Given the description of an element on the screen output the (x, y) to click on. 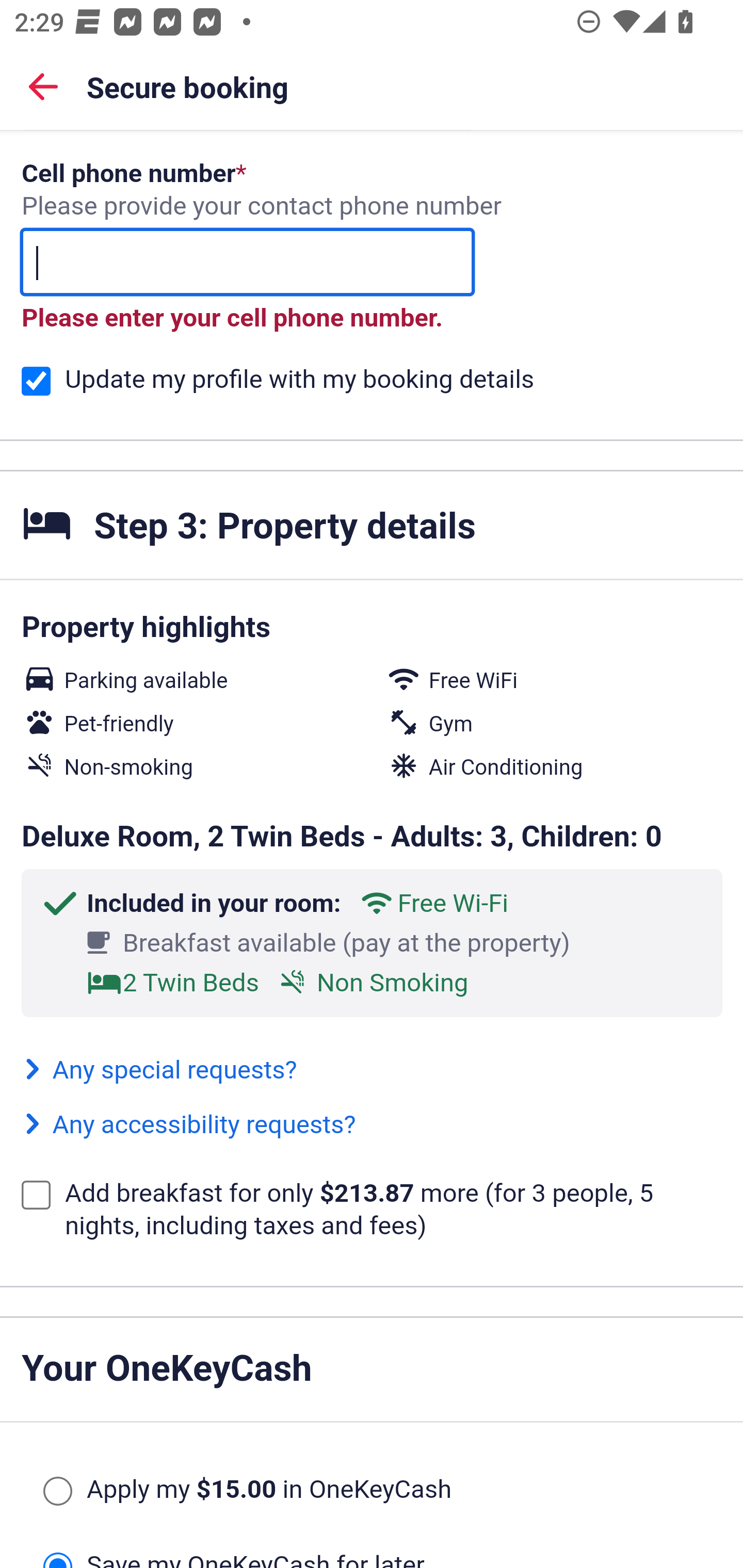
Back (43, 86)
Update my profile with my booking details (36, 381)
Any special requests? (159, 1070)
Any accessibility requests? (189, 1125)
Apply my $15.00 in OneKeyCash (57, 1491)
